Given the description of an element on the screen output the (x, y) to click on. 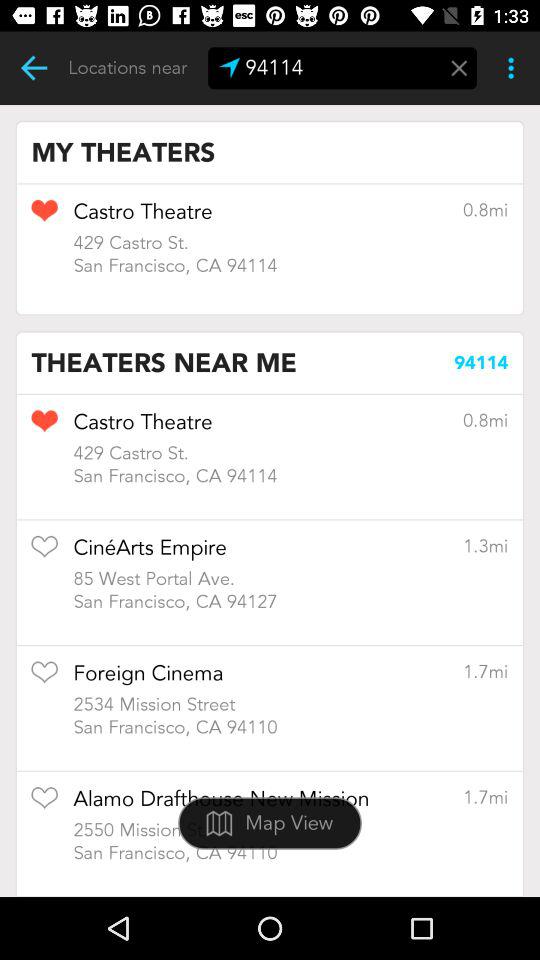
go to previous (34, 67)
